Given the description of an element on the screen output the (x, y) to click on. 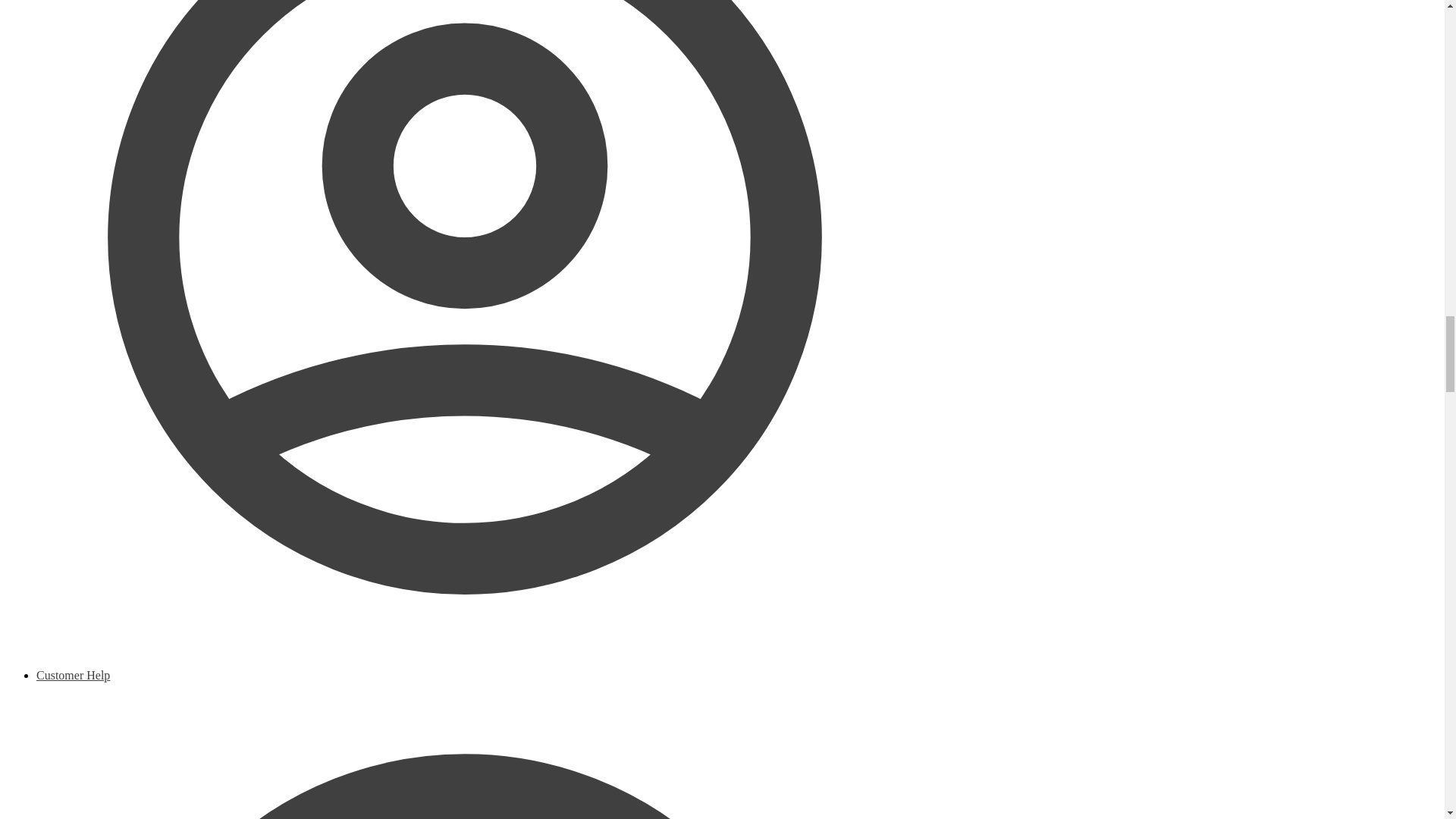
Customer Help (464, 744)
